Given the description of an element on the screen output the (x, y) to click on. 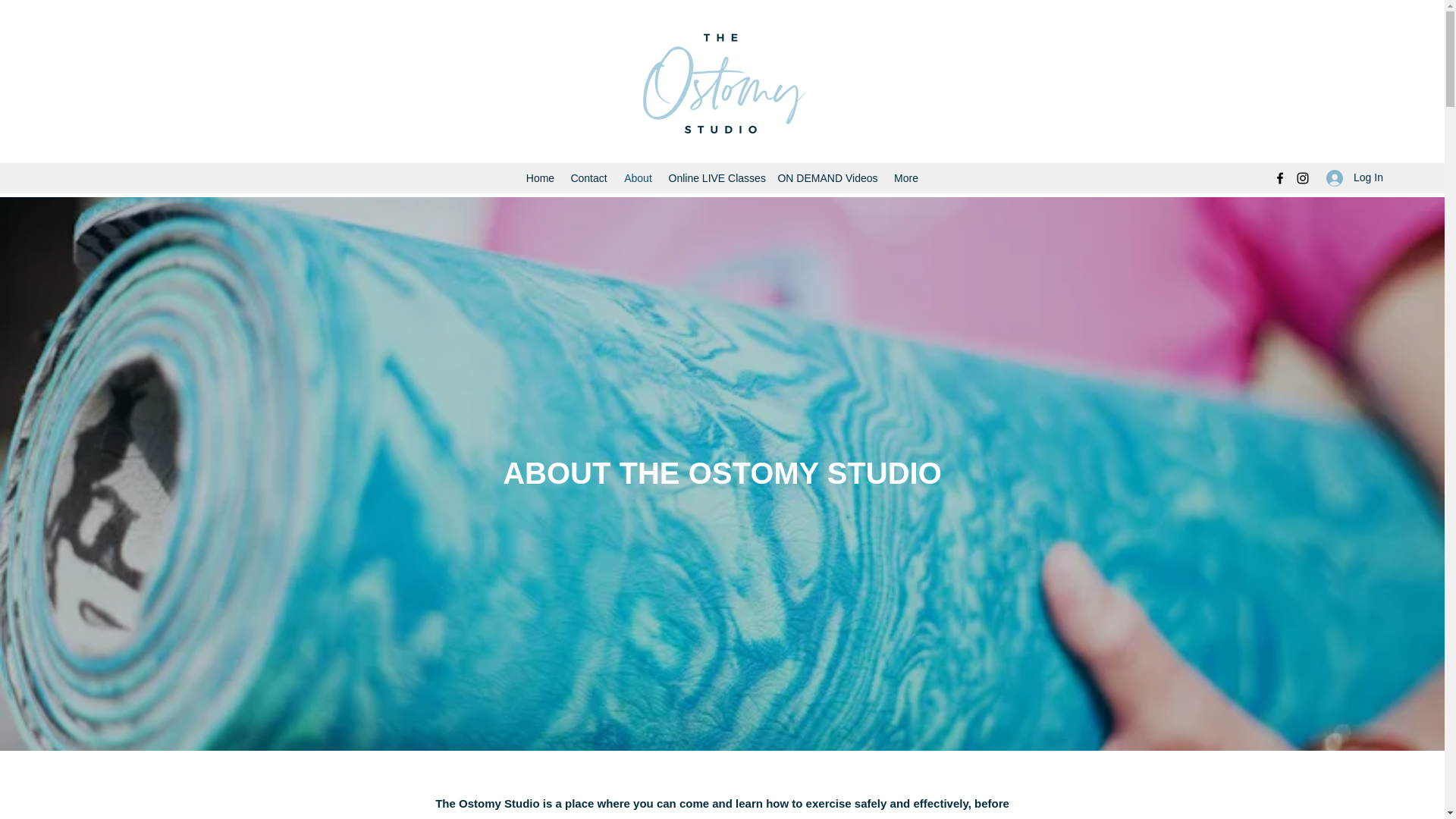
ON DEMAND Videos (826, 178)
Contact (588, 178)
Home (540, 178)
Online LIVE Classes (715, 178)
About (638, 178)
Log In (1350, 177)
